Given the description of an element on the screen output the (x, y) to click on. 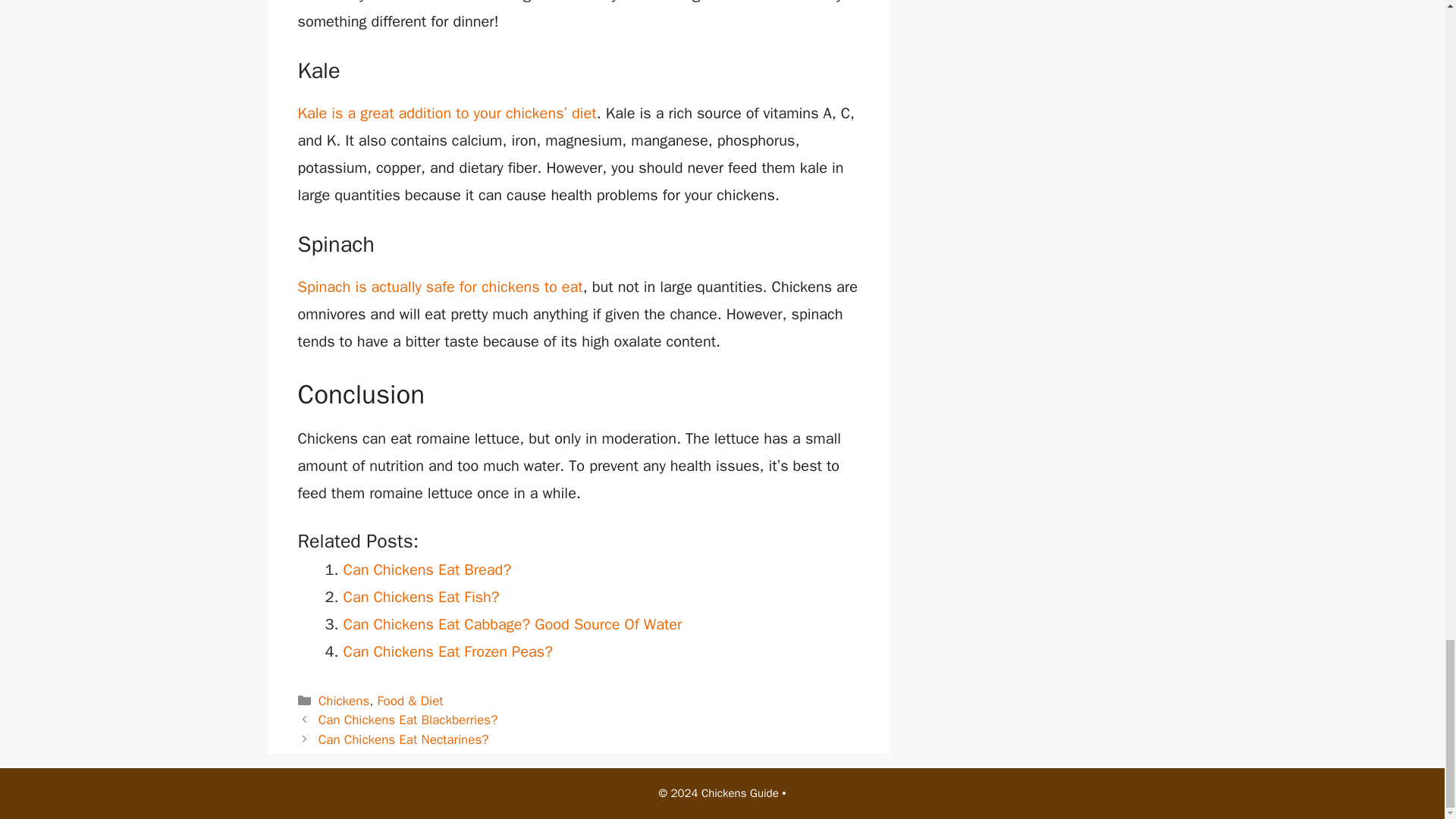
Can Chickens Eat Blackberries? (407, 719)
Can Chickens Eat Cabbage? Good Source Of Water (511, 624)
Spinach is actually safe for chickens to eat (439, 286)
Can Chickens Eat Bread? (426, 569)
Can Chickens Eat Nectarines? (403, 739)
Can Chickens Eat Fish? (420, 597)
Can Chickens Eat Fish? (420, 597)
Can Chickens Eat Cabbage? Good Source Of Water (511, 624)
Can Chickens Eat Frozen Peas? (446, 651)
Chickens (343, 700)
Can Chickens Eat Frozen Peas? (446, 651)
Can Chickens Eat Bread? (426, 569)
